Given the description of an element on the screen output the (x, y) to click on. 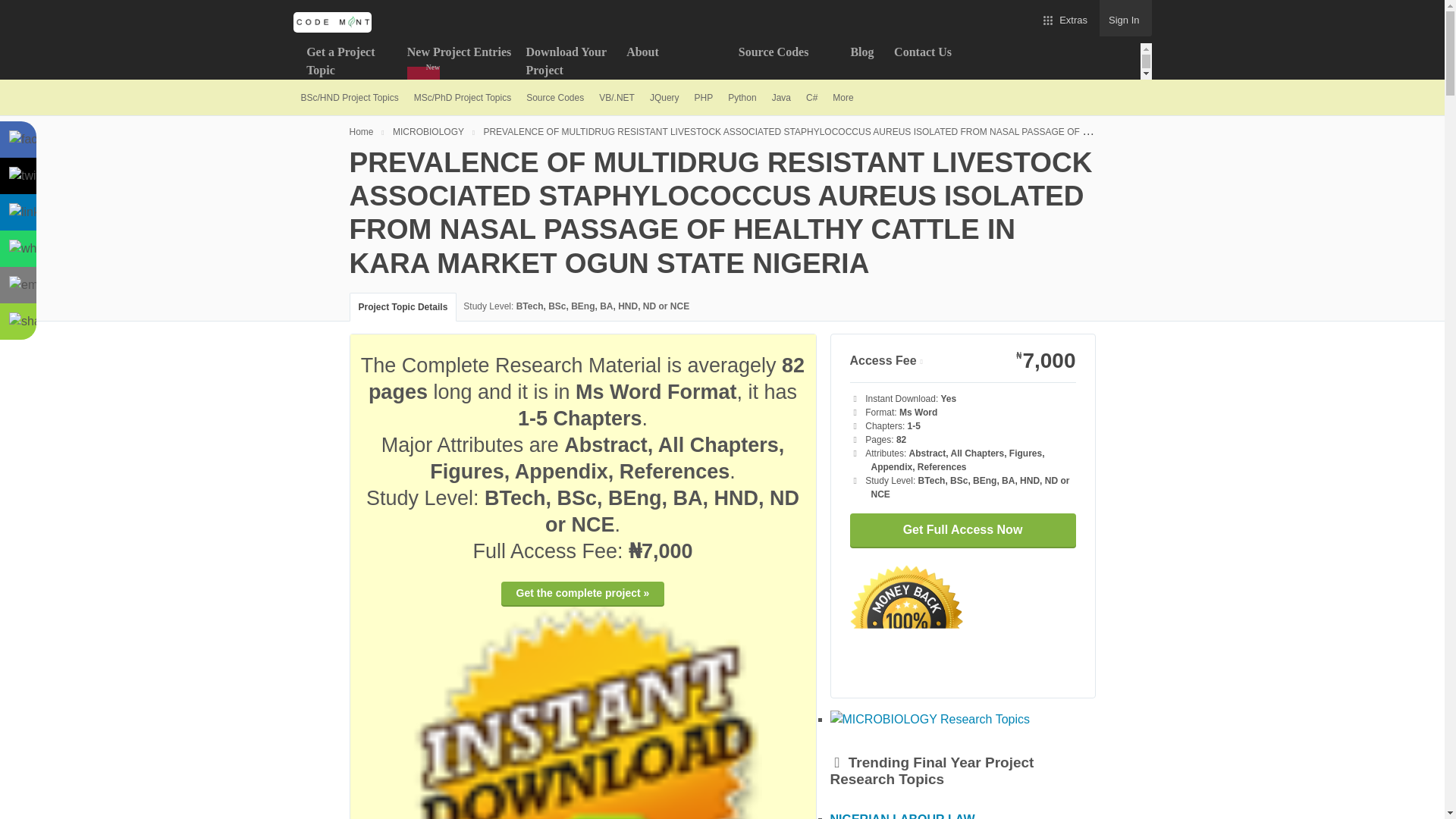
About (675, 60)
Home (368, 131)
Extras (1064, 18)
Web Projects in HTML, PHP, MySQL, CSS... Source Codes (554, 97)
Sign In (1125, 18)
Contact Us (945, 60)
PHP (703, 97)
Java (780, 97)
JQuery (664, 97)
